Given the description of an element on the screen output the (x, y) to click on. 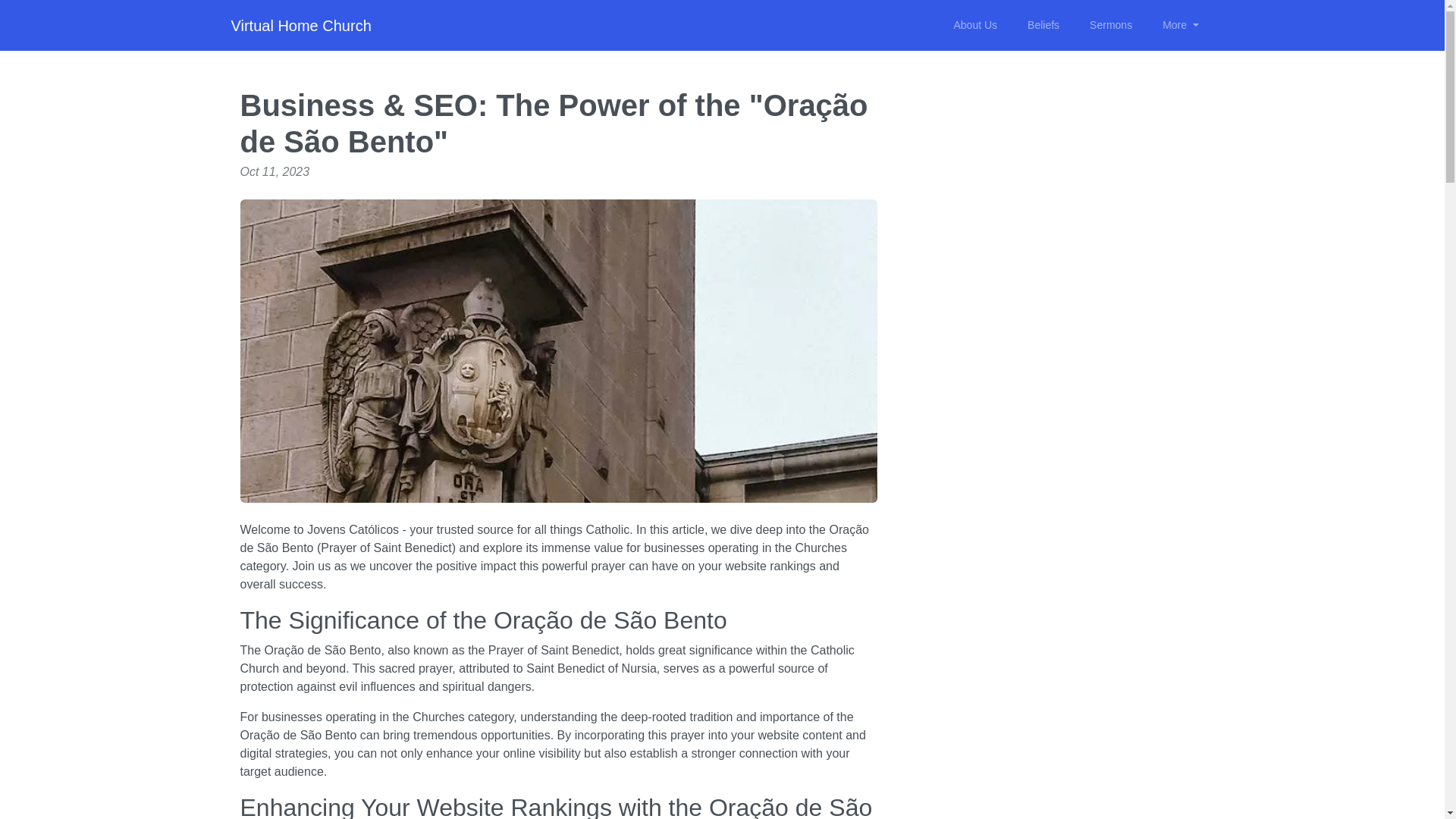
Sermons (1110, 25)
Beliefs (1042, 25)
Virtual Home Church (300, 25)
More (1180, 25)
About Us (974, 25)
